Given the description of an element on the screen output the (x, y) to click on. 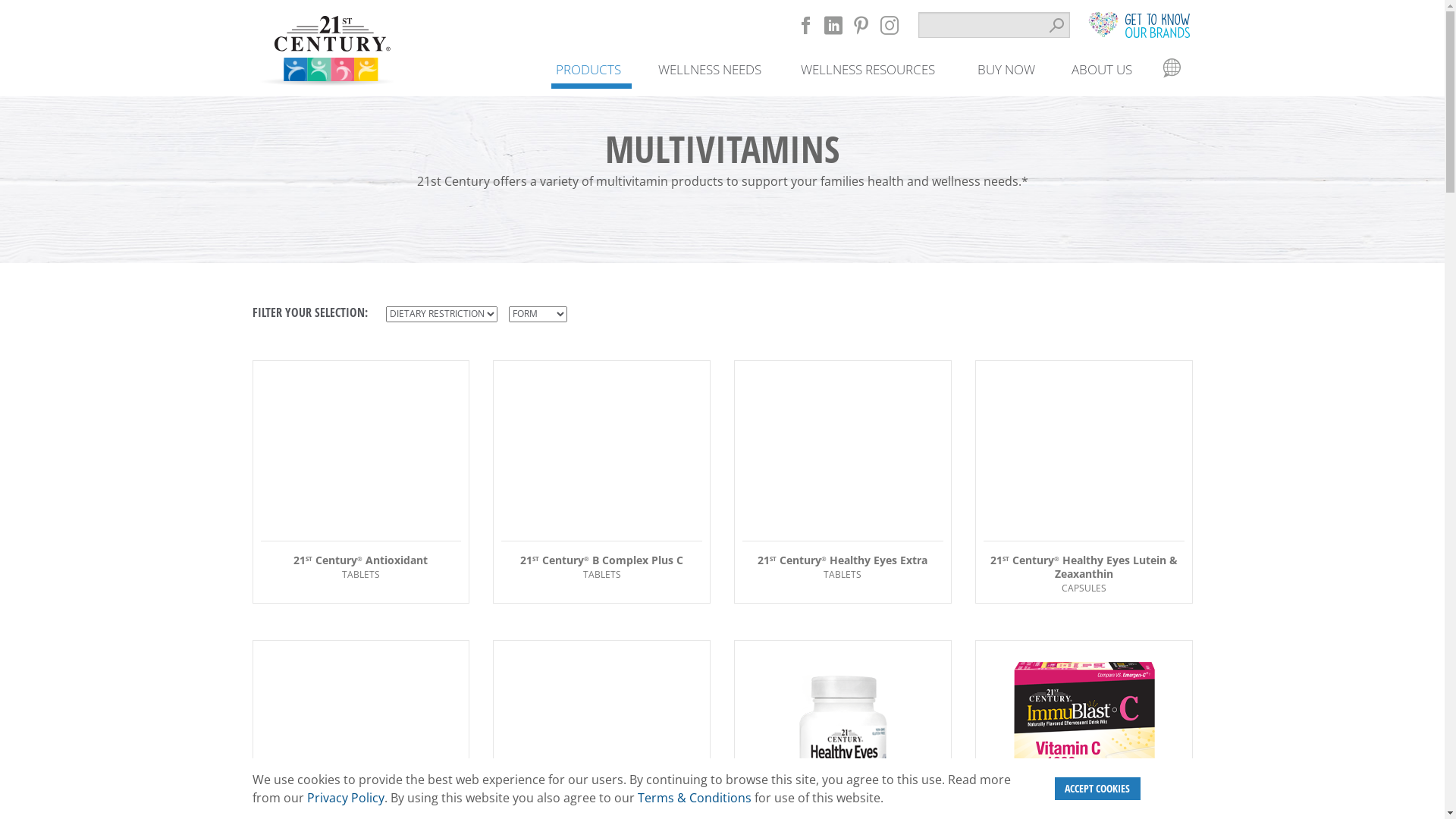
Privacy Policy Element type: text (344, 797)
Facebook Element type: text (805, 25)
PRODUCTS Element type: text (587, 68)
Search Element type: text (1056, 24)
Get to know our brands Element type: text (1138, 24)
Terms & Conditions Element type: text (693, 797)
Pinterest Element type: text (860, 25)
BUY NOW Element type: text (1006, 68)
Instagram Element type: text (889, 25)
WELLNESS NEEDS Element type: text (709, 68)
ACCEPT COOKIES Element type: text (1097, 788)
LinkedIn Element type: text (832, 25)
INTERNATIONAL Element type: text (1171, 68)
ABOUT US Element type: text (1101, 68)
WELLNESS RESOURCES Element type: text (867, 68)
